Given the description of an element on the screen output the (x, y) to click on. 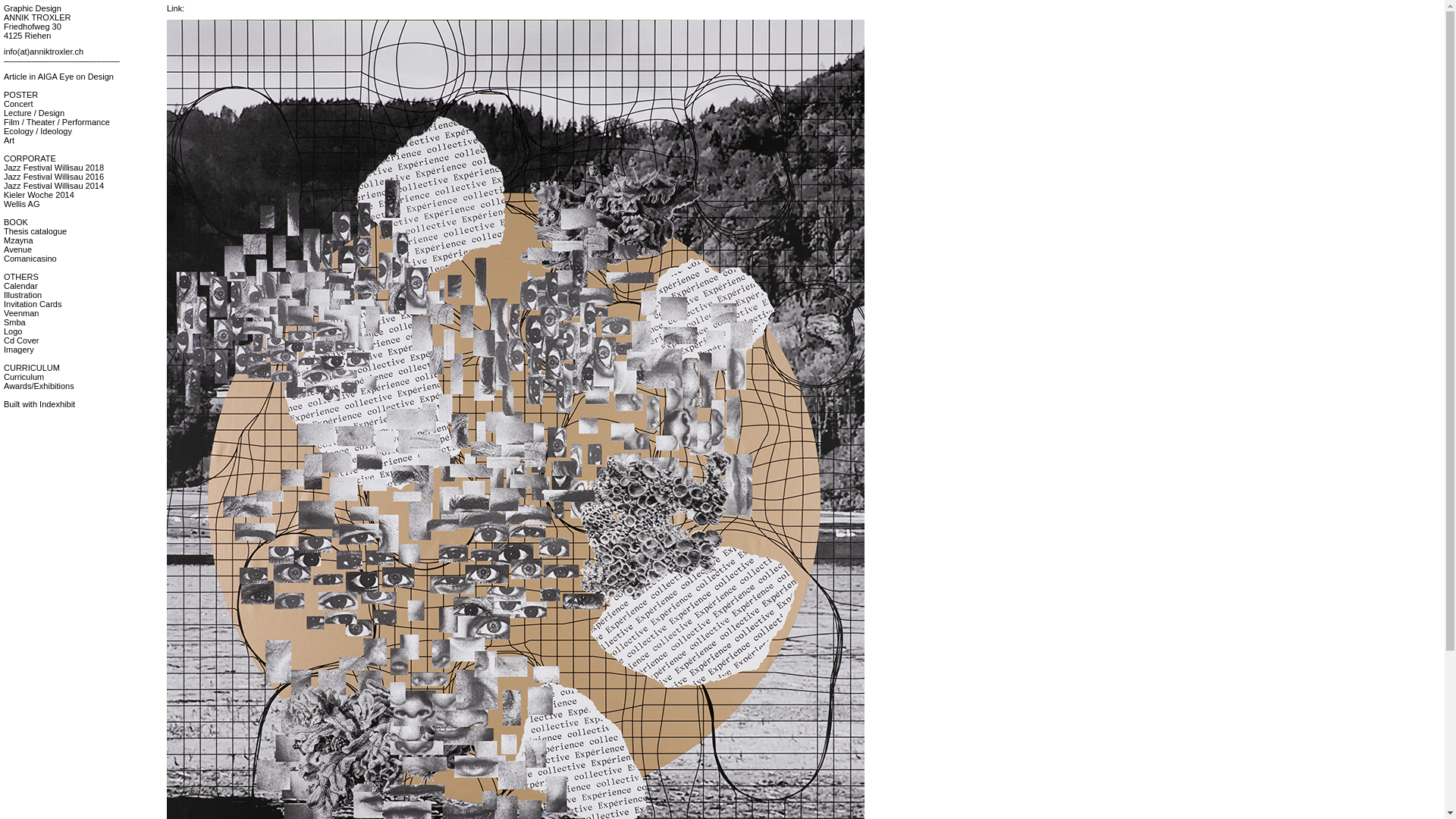
Logo Element type: text (12, 330)
Curriculum Element type: text (23, 376)
Lecture / Design Element type: text (33, 112)
Mzayna Element type: text (18, 239)
Article in AIGA Eye on Design Element type: text (58, 76)
Calendar Element type: text (20, 285)
Invitation Cards Element type: text (32, 303)
Indexhibit Element type: text (57, 403)
Film / Theater / Performance Element type: text (56, 121)
Cd Cover Element type: text (20, 340)
Art Element type: text (8, 139)
Awards/Exhibitions Element type: text (38, 385)
Thesis catalogue Element type: text (34, 230)
Avenue Element type: text (17, 249)
info(at)anniktroxler.ch Element type: text (43, 51)
Imagery Element type: text (18, 349)
Jazz Festival Willisau 2014 Element type: text (53, 185)
Concert Element type: text (18, 103)
Ecology / Ideology Element type: text (37, 130)
Illustration Element type: text (22, 294)
Link: Element type: text (175, 7)
Kieler Woche 2014 Element type: text (38, 194)
Jazz Festival Willisau 2016 Element type: text (53, 176)
Jazz Festival Willisau 2018 Element type: text (53, 167)
Wellis AG Element type: text (21, 203)
Veenman Element type: text (20, 312)
Comanicasino Element type: text (29, 258)
Smba Element type: text (14, 321)
